Given the description of an element on the screen output the (x, y) to click on. 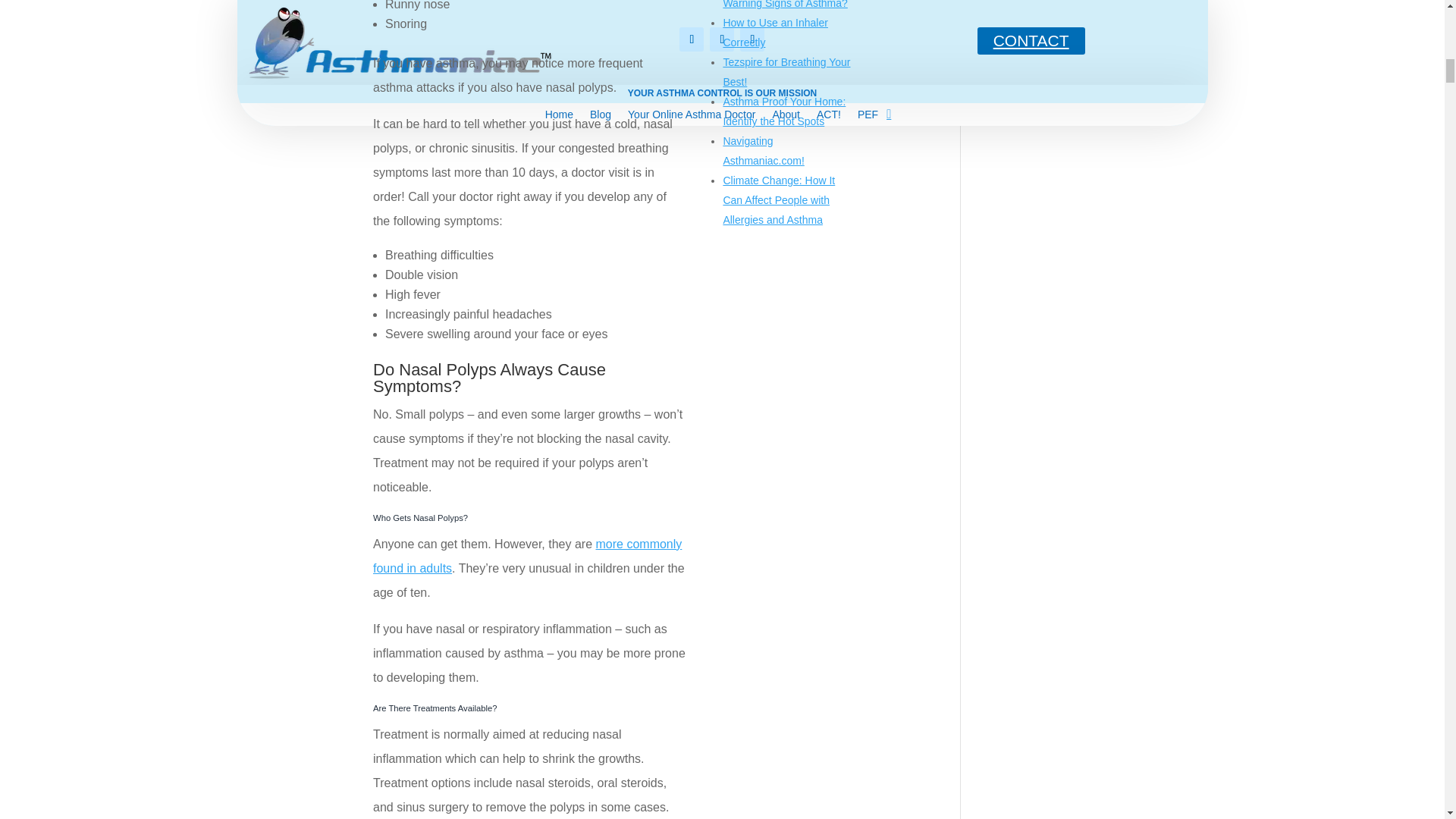
more commonly found in adults (526, 555)
